Given the description of an element on the screen output the (x, y) to click on. 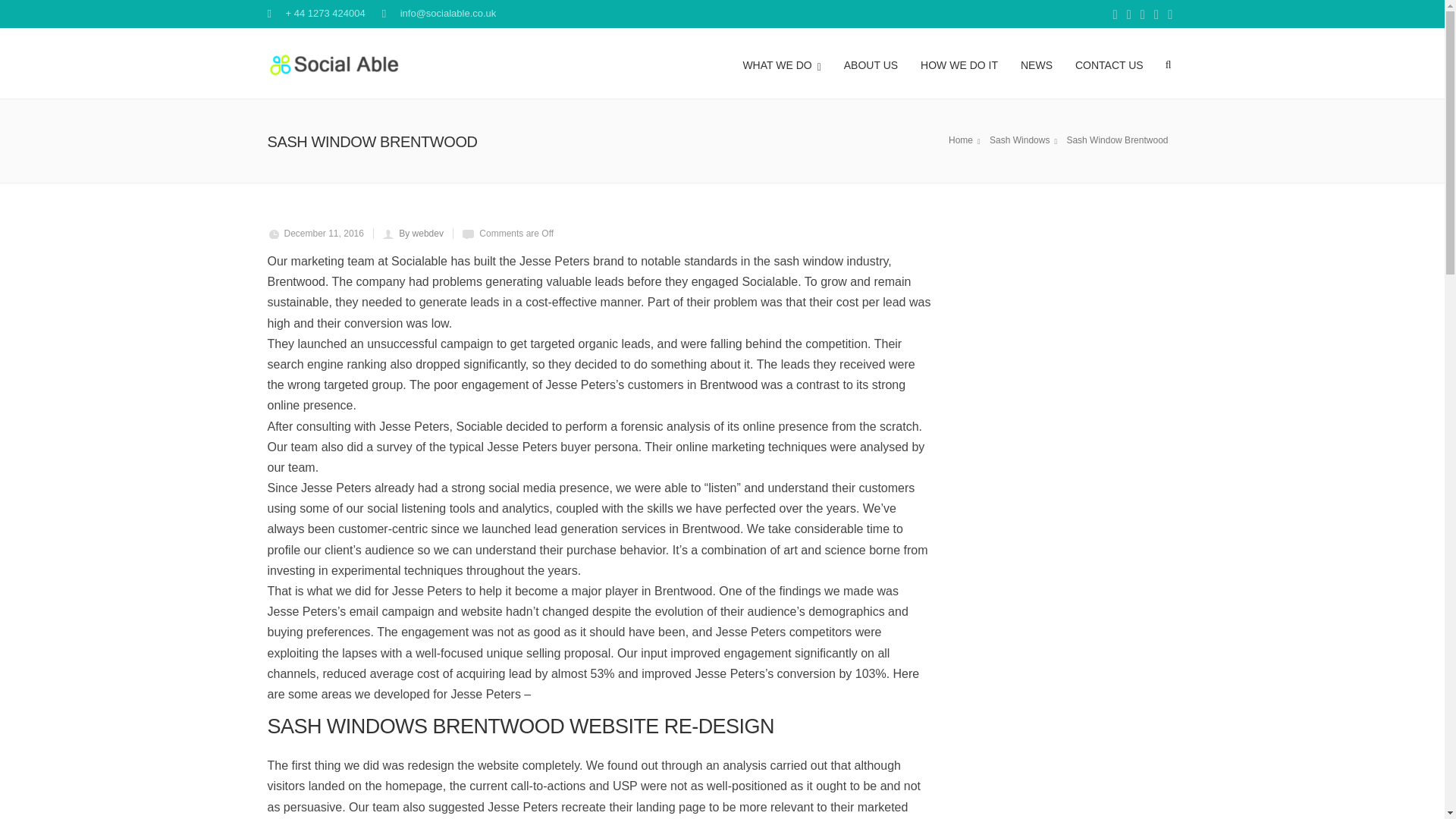
Skype (1128, 15)
CONTACT US (1109, 63)
ABOUT US (870, 63)
Twitter (1142, 15)
Sash Window Brentwood (1025, 140)
WHAT WE DO (780, 63)
Instagram (1169, 15)
Sash Window Brentwood (1118, 140)
LinkedIn (1156, 15)
Facebook (1114, 15)
